Given the description of an element on the screen output the (x, y) to click on. 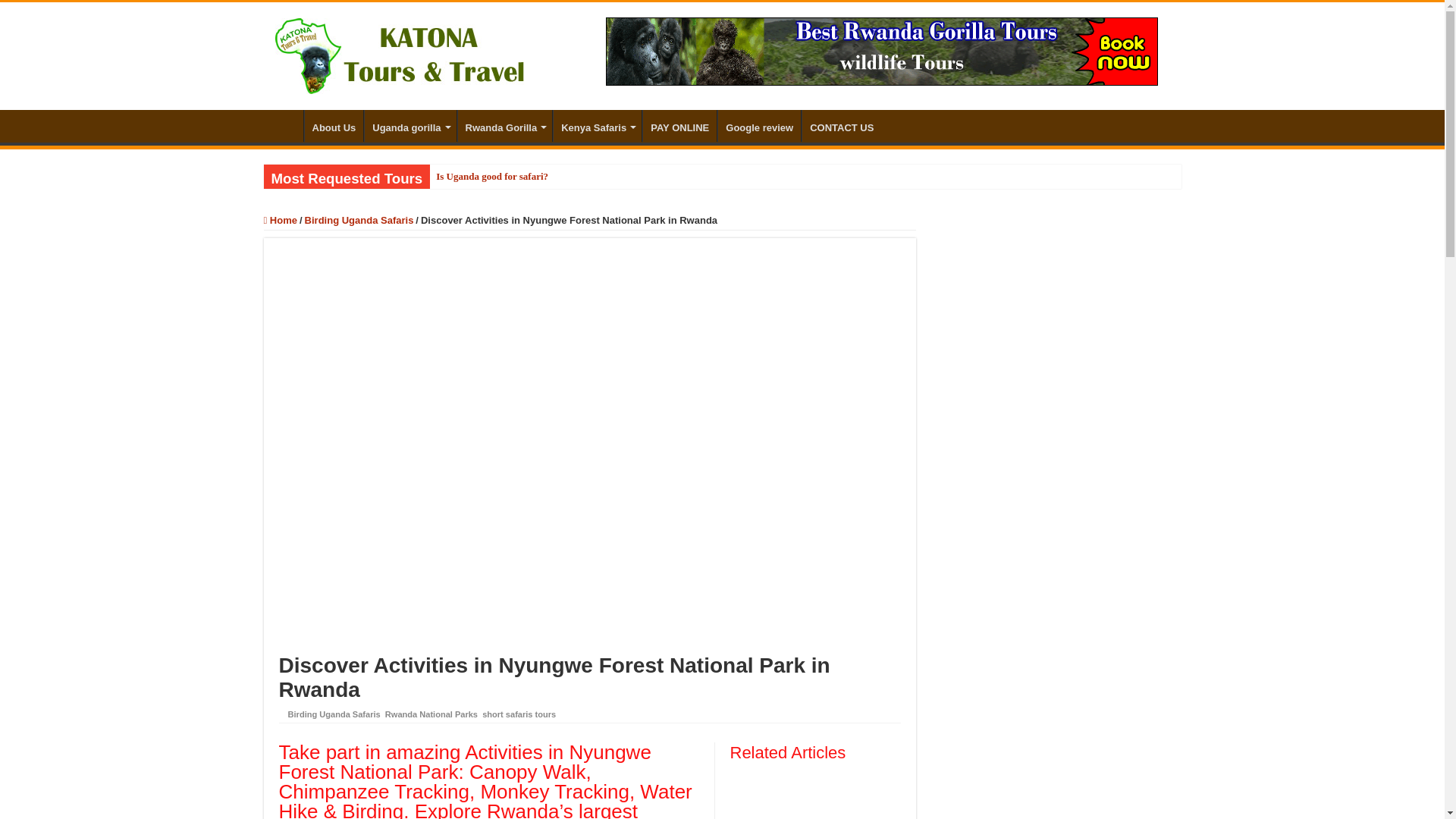
Uganda gorilla (409, 125)
Rwanda gorilla tours and travel (881, 50)
Is Uganda good for safari? (595, 176)
About Us (332, 125)
CONTACT US (841, 125)
Rwanda Gorilla (505, 125)
Kenya Safaris (597, 125)
Is Uganda good for safari? (595, 176)
Google review (758, 125)
PAY ONLINE (679, 125)
